Given the description of an element on the screen output the (x, y) to click on. 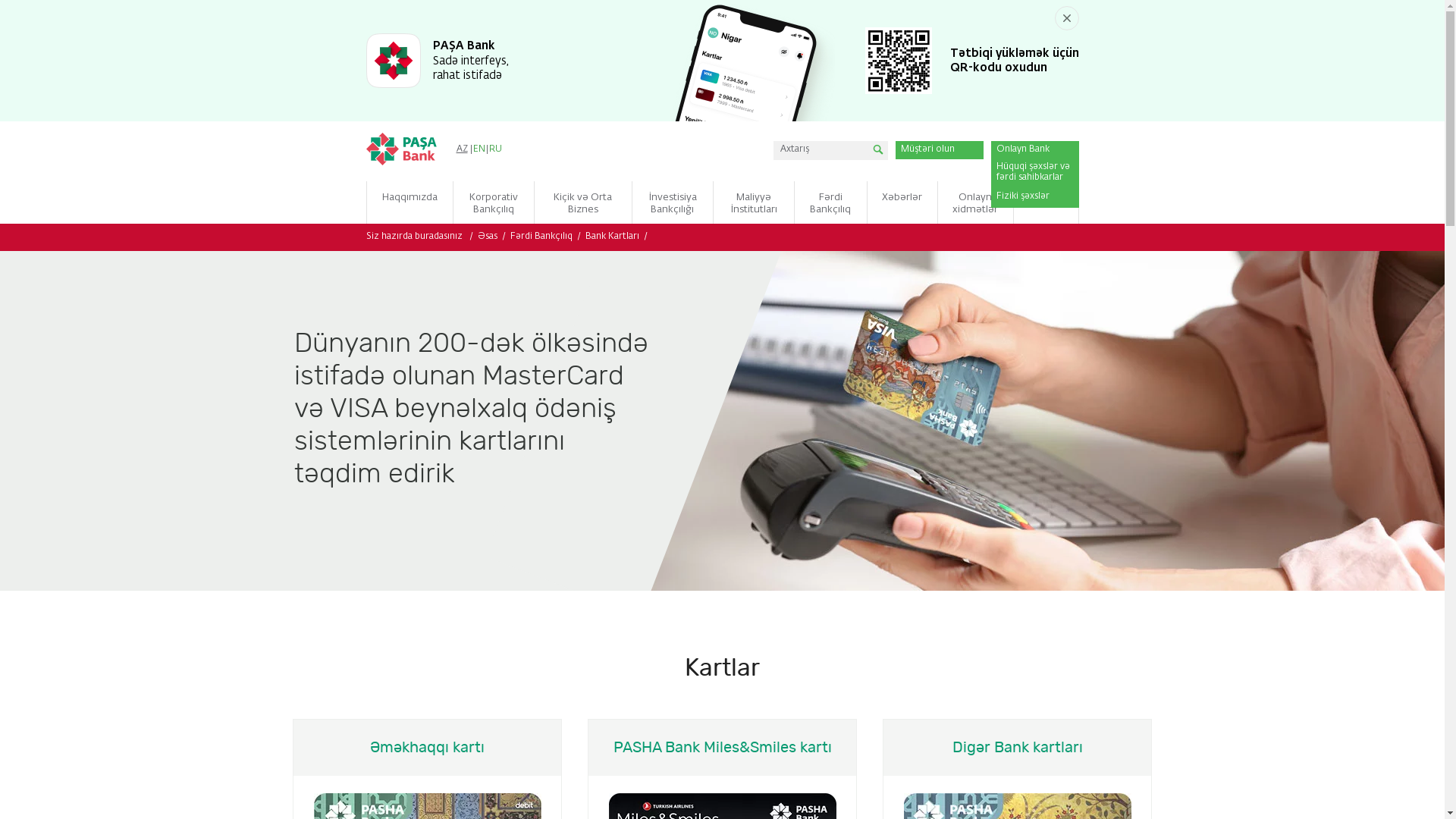
Onlayn Bank Element type: text (1034, 147)
EN Element type: text (478, 148)
RU Element type: text (495, 148)
